Given the description of an element on the screen output the (x, y) to click on. 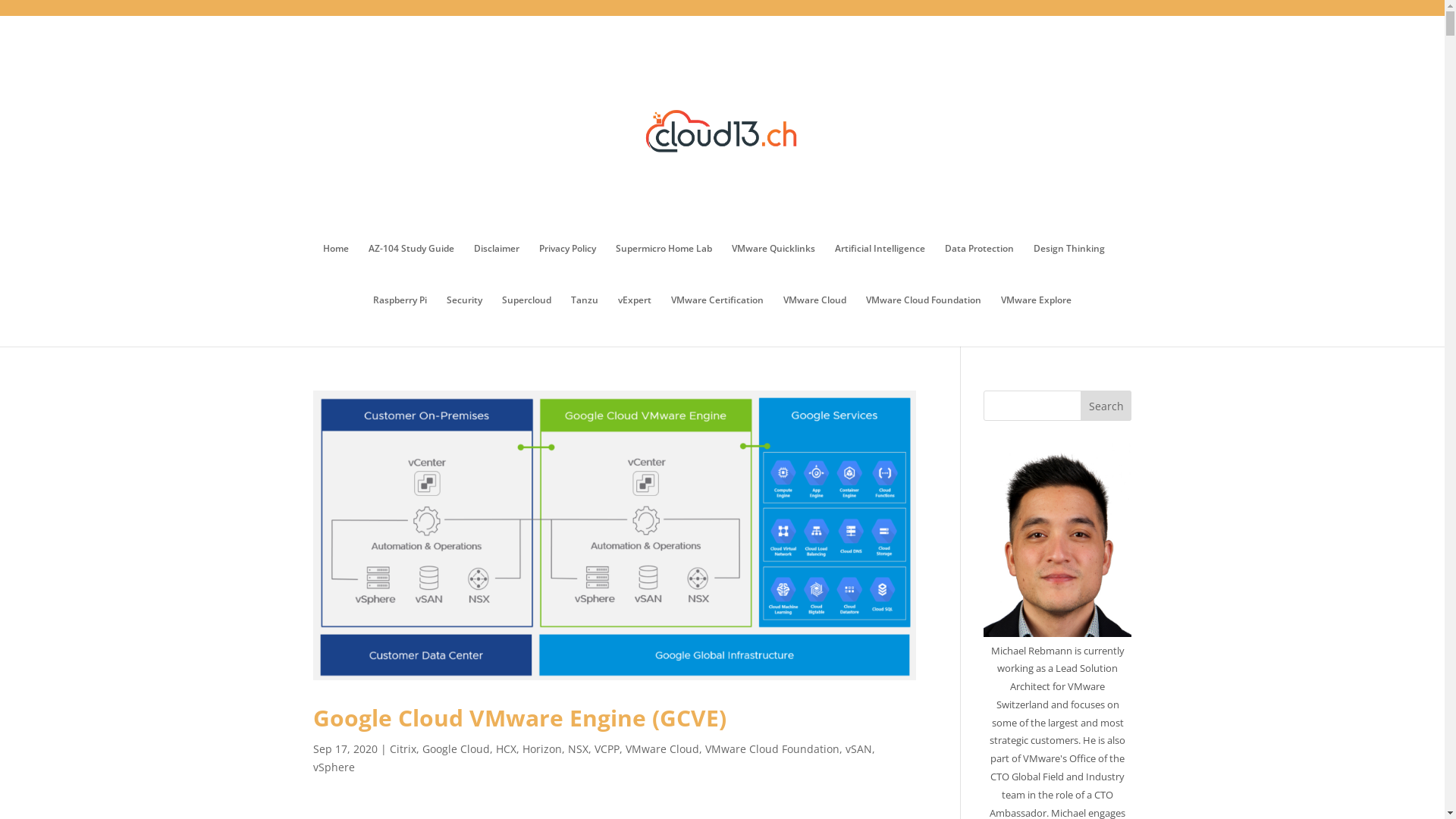
Home Element type: text (335, 268)
Security Element type: text (464, 320)
VMware Explore Element type: text (1036, 320)
VMware Quicklinks Element type: text (773, 268)
HCX Element type: text (505, 748)
Horizon Element type: text (541, 748)
Privacy Policy Element type: text (567, 268)
Citrix Element type: text (402, 748)
Supermicro Home Lab Element type: text (663, 268)
NSX Element type: text (577, 748)
VMware Cloud Element type: text (814, 320)
Data Protection Element type: text (978, 268)
VMware Cloud Foundation Element type: text (923, 320)
Google Cloud Element type: text (455, 748)
Supercloud Element type: text (526, 320)
Raspberry Pi Element type: text (399, 320)
VMware Certification Element type: text (717, 320)
vExpert Element type: text (634, 320)
Search Element type: text (1106, 405)
Tanzu Element type: text (584, 320)
vSAN Element type: text (857, 748)
AZ-104 Study Guide Element type: text (411, 268)
VMware Cloud Element type: text (661, 748)
Design Thinking Element type: text (1068, 268)
Google Cloud VMware Engine (GCVE) Element type: text (518, 717)
VMware Cloud Foundation Element type: text (772, 748)
Disclaimer Element type: text (496, 268)
Artificial Intelligence Element type: text (879, 268)
vSphere Element type: text (333, 766)
VCPP Element type: text (606, 748)
